Given the description of an element on the screen output the (x, y) to click on. 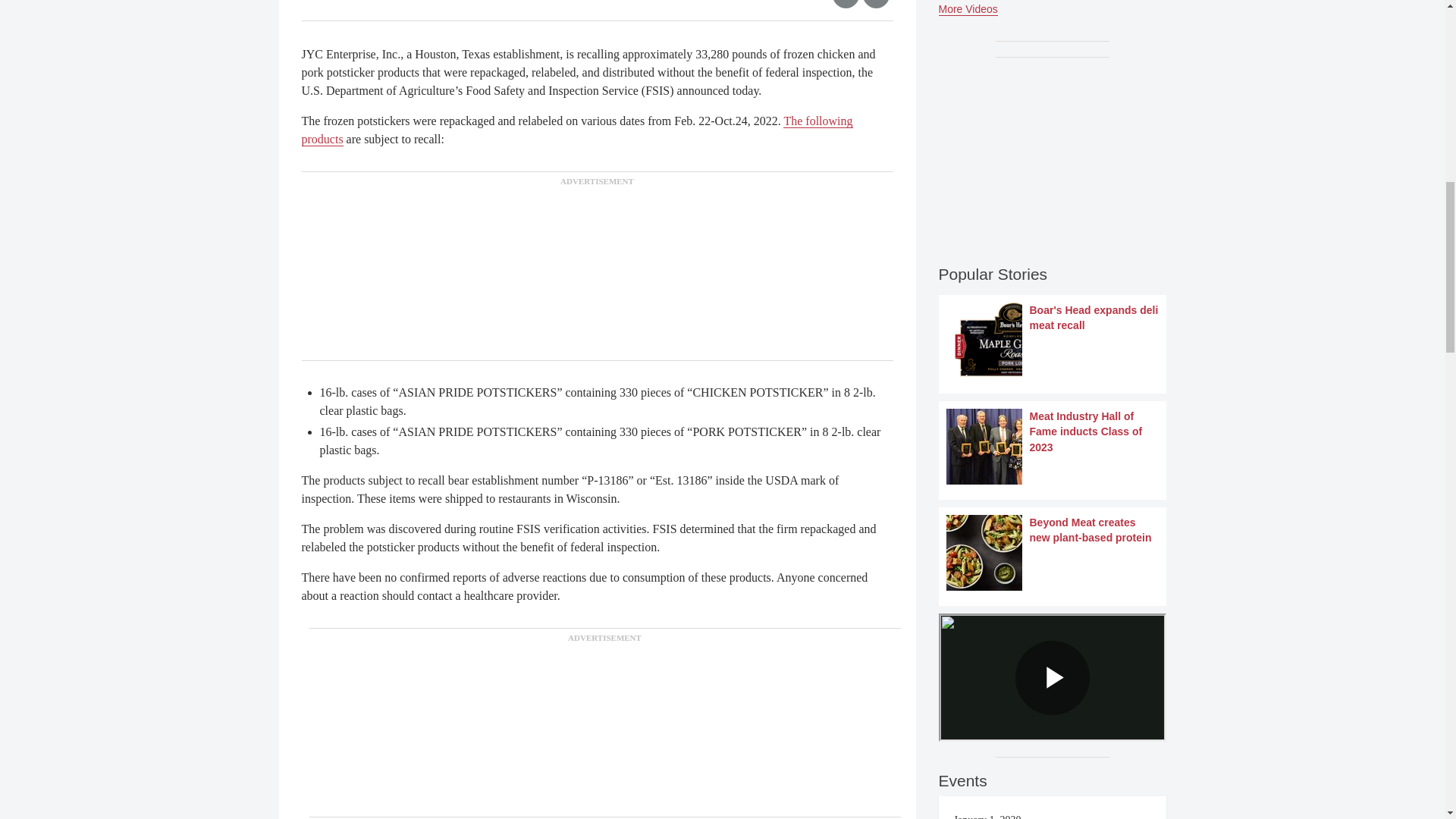
Boar's Head expands deli meat recall (1052, 340)
Beyond Meat creates new plant-based protein (1052, 552)
Meat Industry Hall of Fame inducts Class of 2023 (1052, 446)
